Given the description of an element on the screen output the (x, y) to click on. 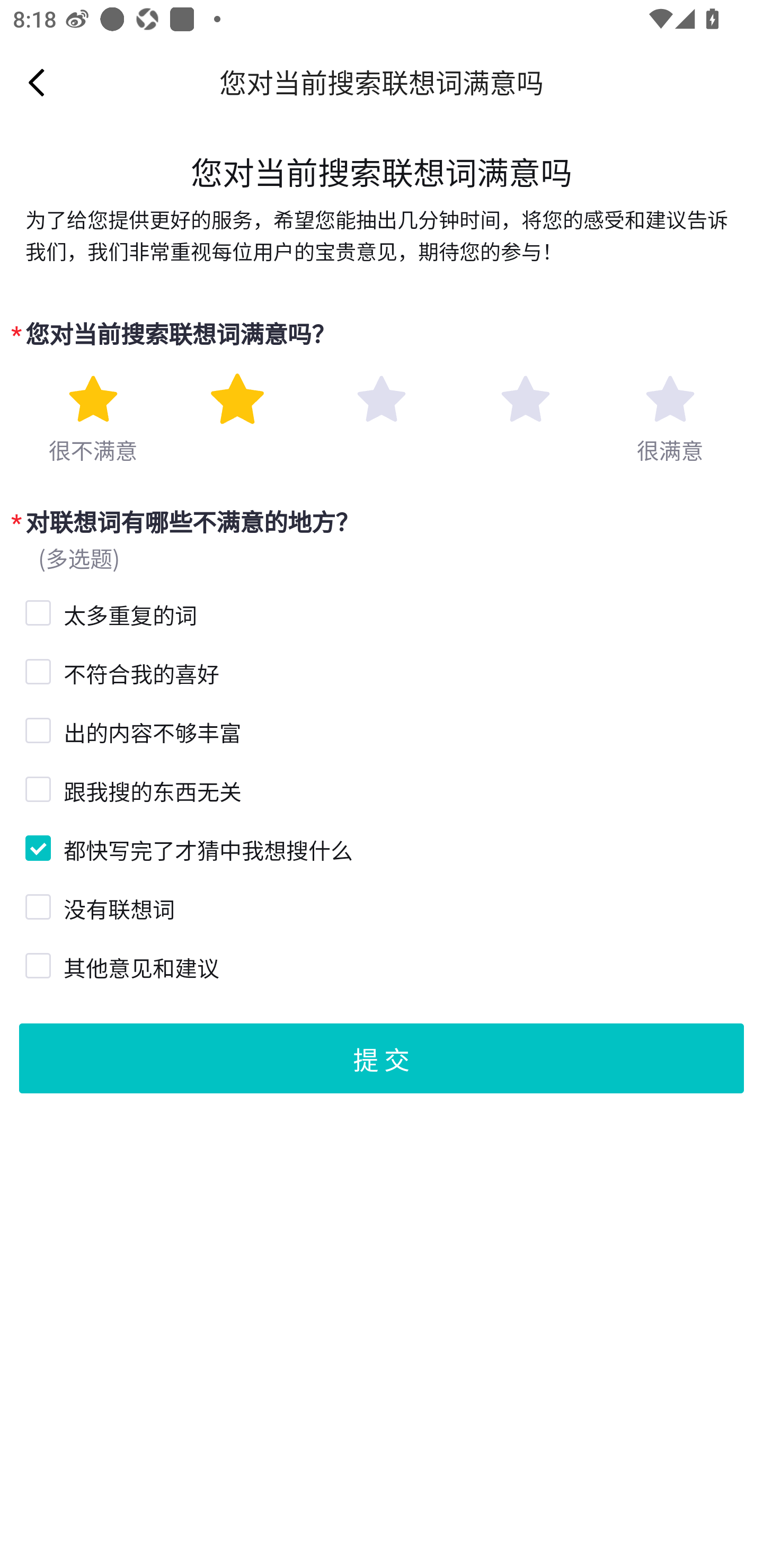
Navigate up (36, 82)
star star (237, 399)
star star (92, 399)
star star (381, 399)
star star (524, 399)
star star (669, 399)
太多重复的词   (36, 610)
不符合我的喜好   (36, 670)
出的内容不够丰富   (36, 728)
跟我搜的东西无关   (36, 787)
都快写完了才猜中我想搜什么   (36, 845)
没有联想词   (36, 905)
其他意见和建议   (36, 963)
提 交 (381, 1057)
